Given the description of an element on the screen output the (x, y) to click on. 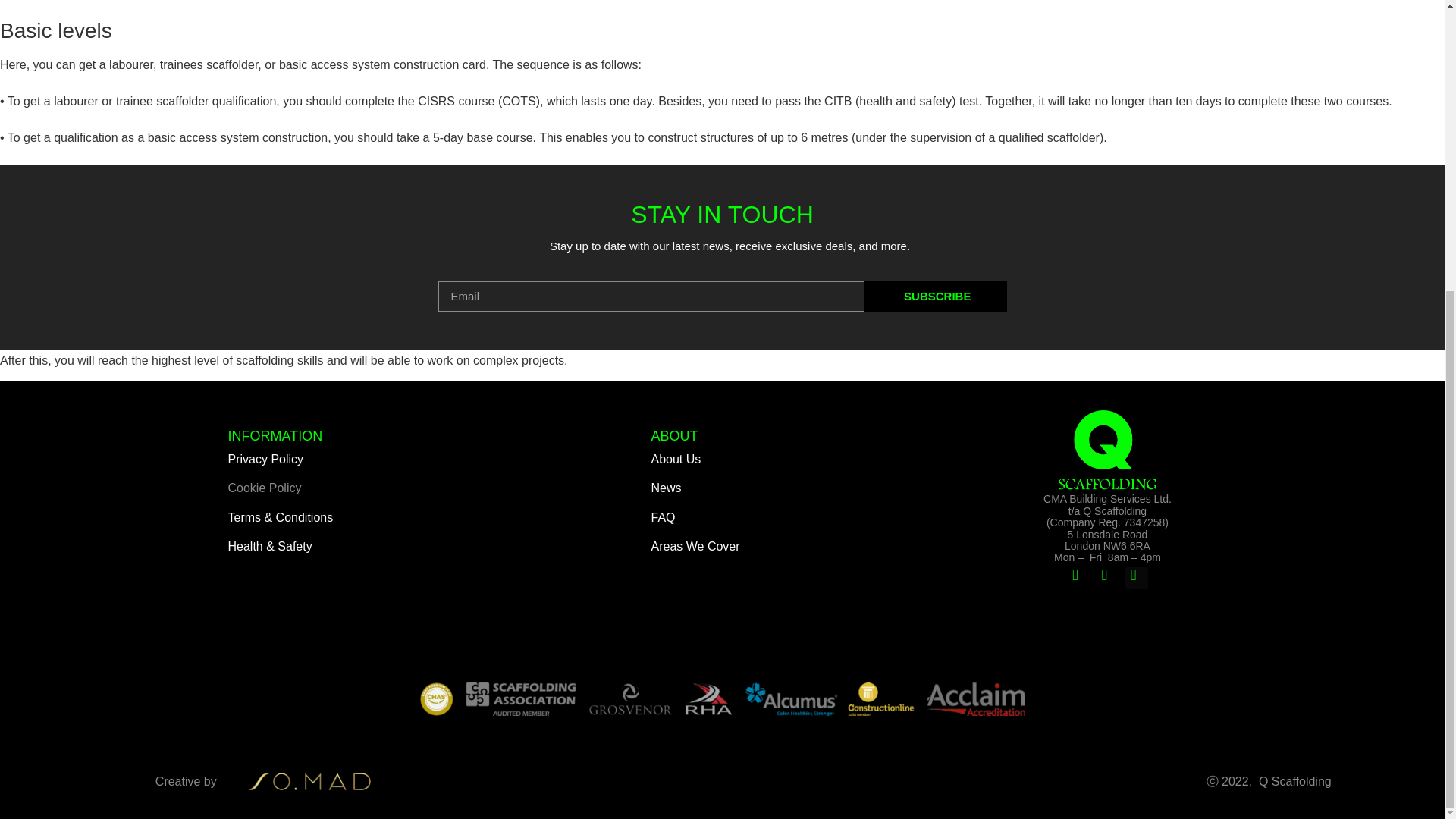
FAQ (662, 517)
FAQ (662, 517)
Areas We Cover (694, 545)
SUBSCRIBE (935, 296)
Accreditations - Q Scaffolding (722, 698)
About Us (675, 459)
News (665, 487)
Privacy Policy (264, 459)
Q Scaffolding Logo - Q Scaffolding (1107, 451)
